Given the description of an element on the screen output the (x, y) to click on. 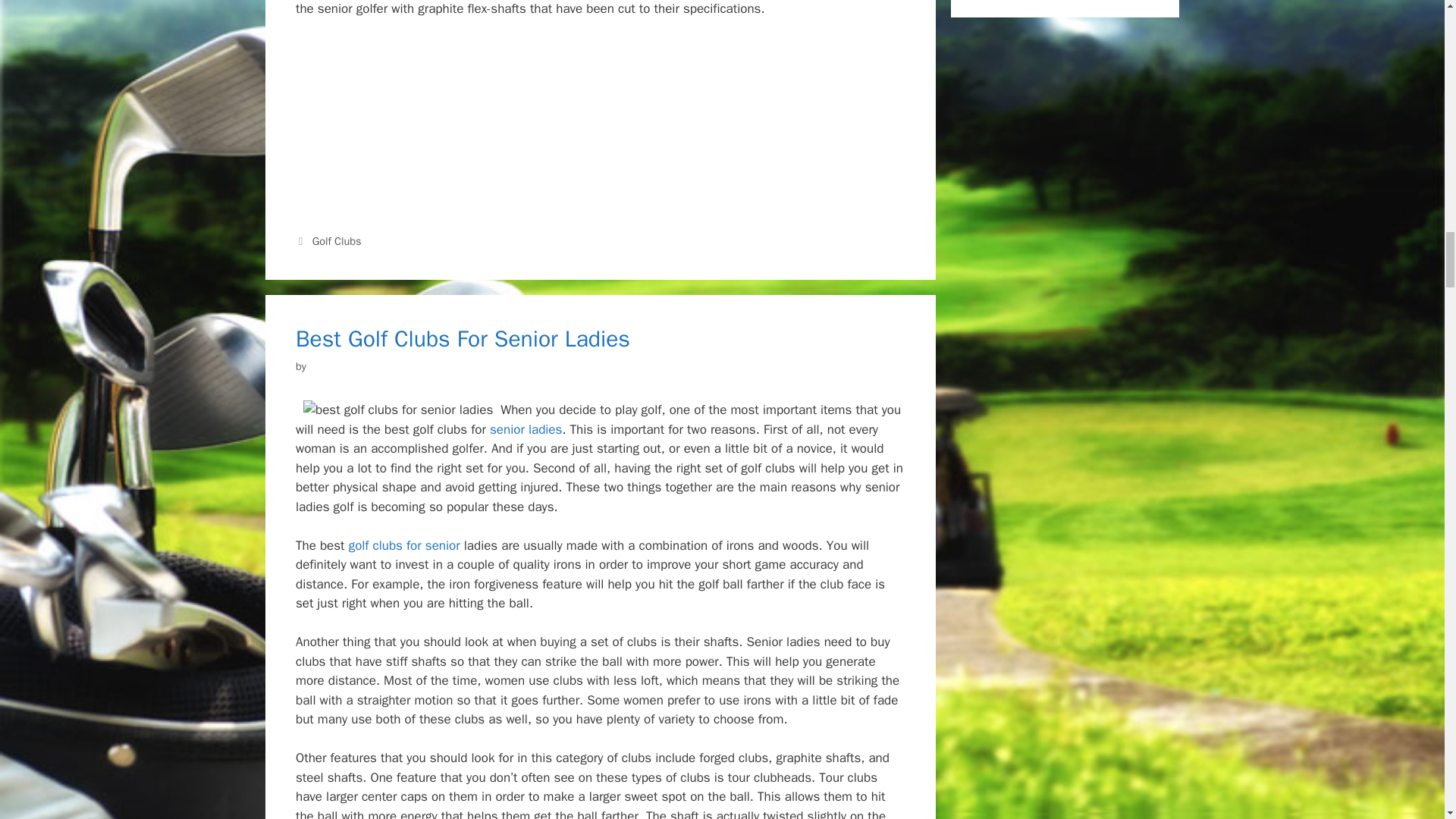
Golf Clubs (337, 241)
senior ladies (525, 429)
Best Golf Clubs For Senior Ladies (462, 338)
